Given the description of an element on the screen output the (x, y) to click on. 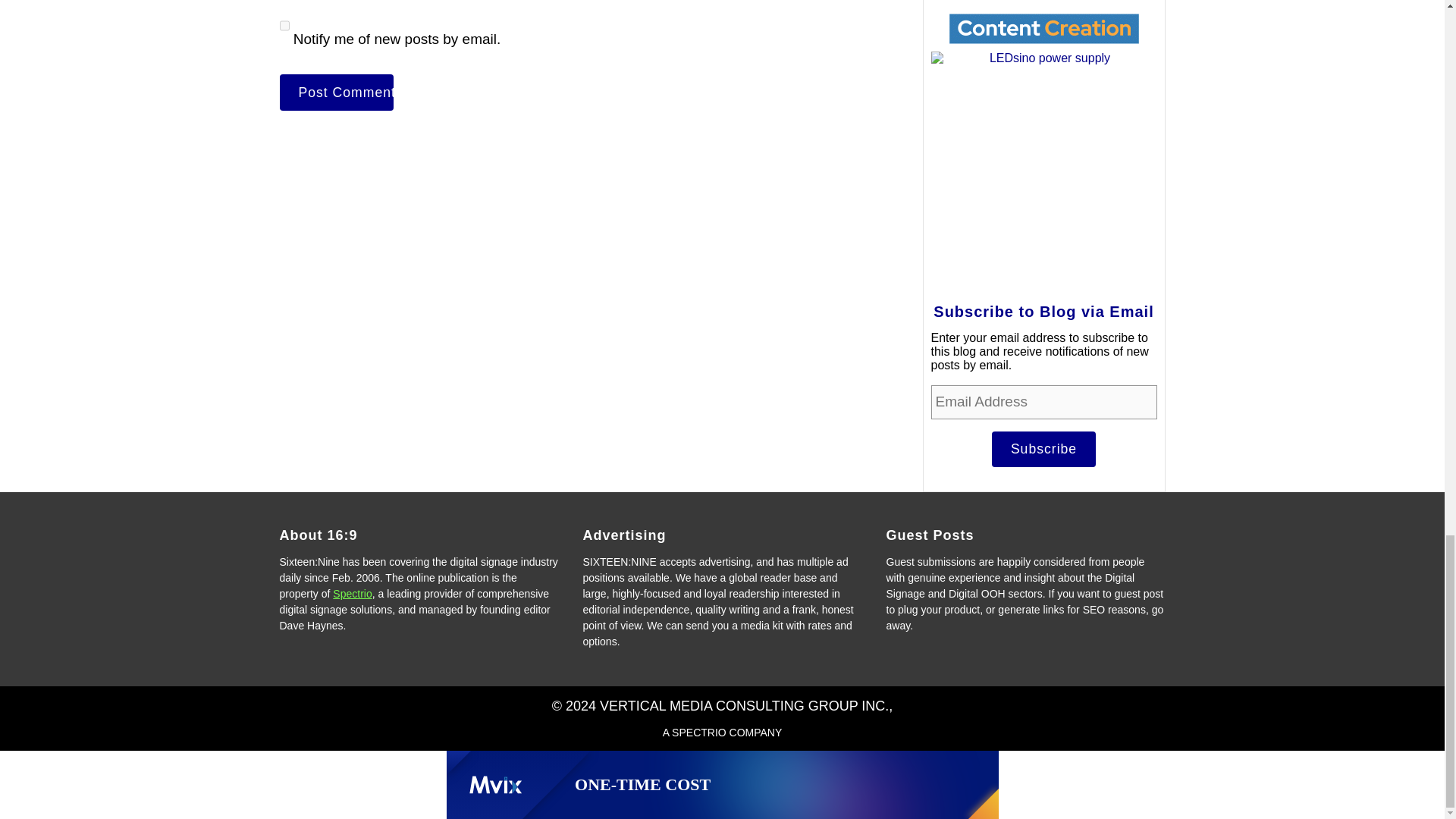
A SPECTRIO COMPANY (721, 732)
Post Comment (336, 92)
Post Comment (336, 92)
Spectrio (352, 593)
Subscribe (1043, 449)
